Given the description of an element on the screen output the (x, y) to click on. 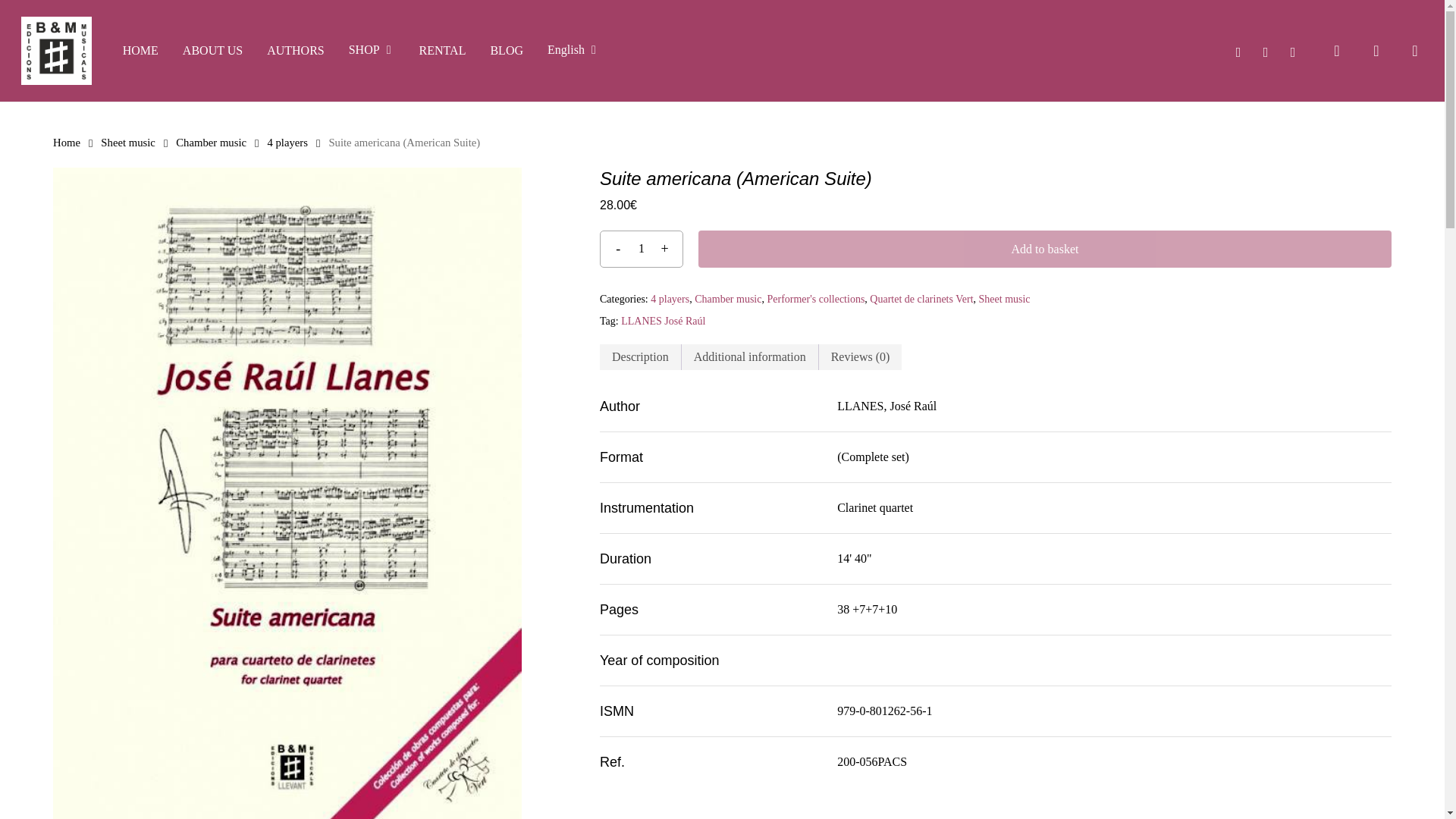
4 players (669, 298)
Add to basket (1044, 248)
search (1336, 50)
RENTAL (442, 50)
Chamber music (211, 142)
English (573, 50)
SHOP (371, 50)
Sheet music (1004, 298)
Chamber music (727, 298)
Performer's collections (815, 298)
